Given the description of an element on the screen output the (x, y) to click on. 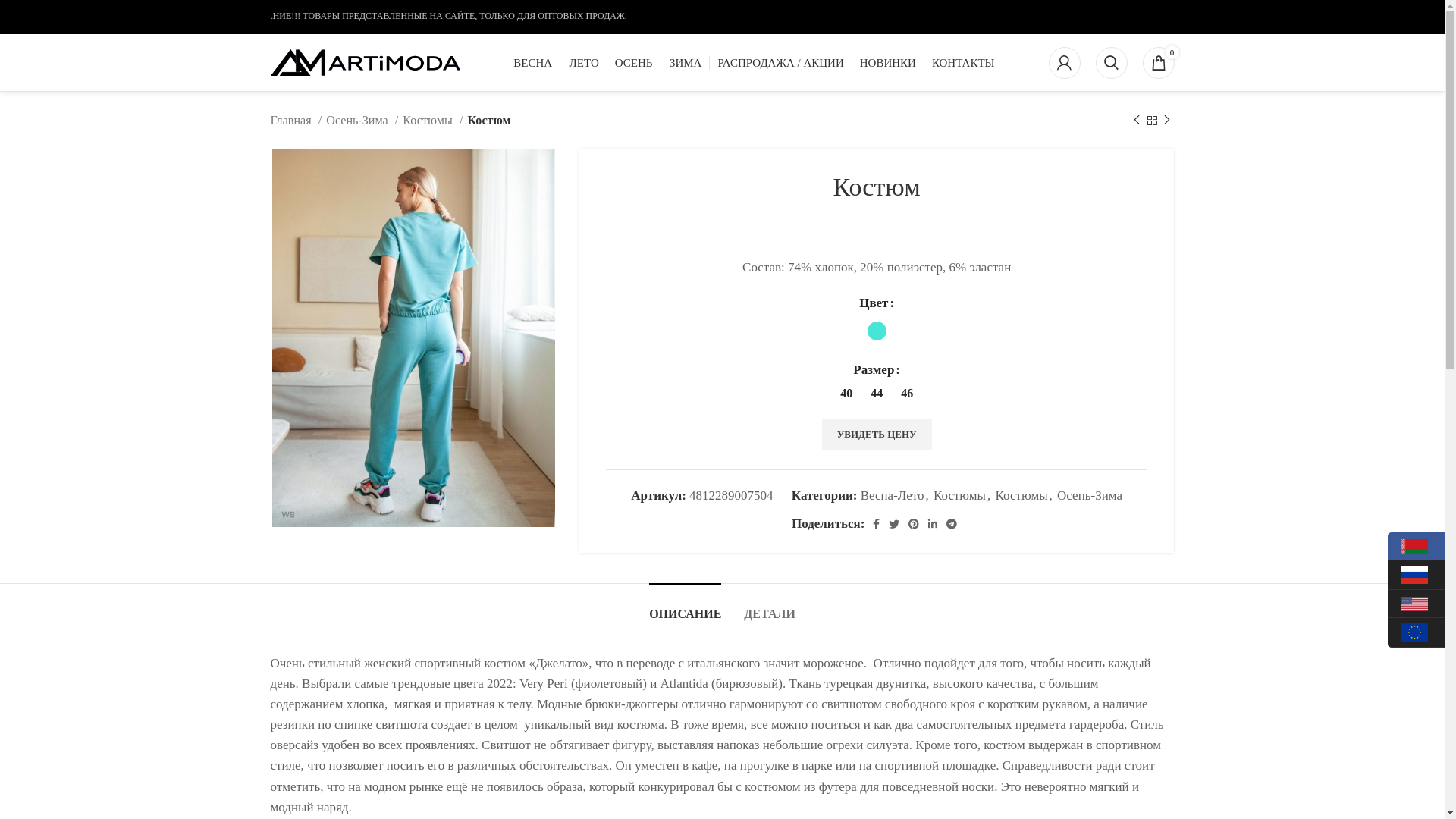
  Element type: text (1415, 574)
0 Element type: text (1157, 62)
  Element type: text (1415, 546)
90511752-4 Element type: hover (412, 338)
  Element type: text (1415, 603)
  Element type: text (1415, 632)
